Given the description of an element on the screen output the (x, y) to click on. 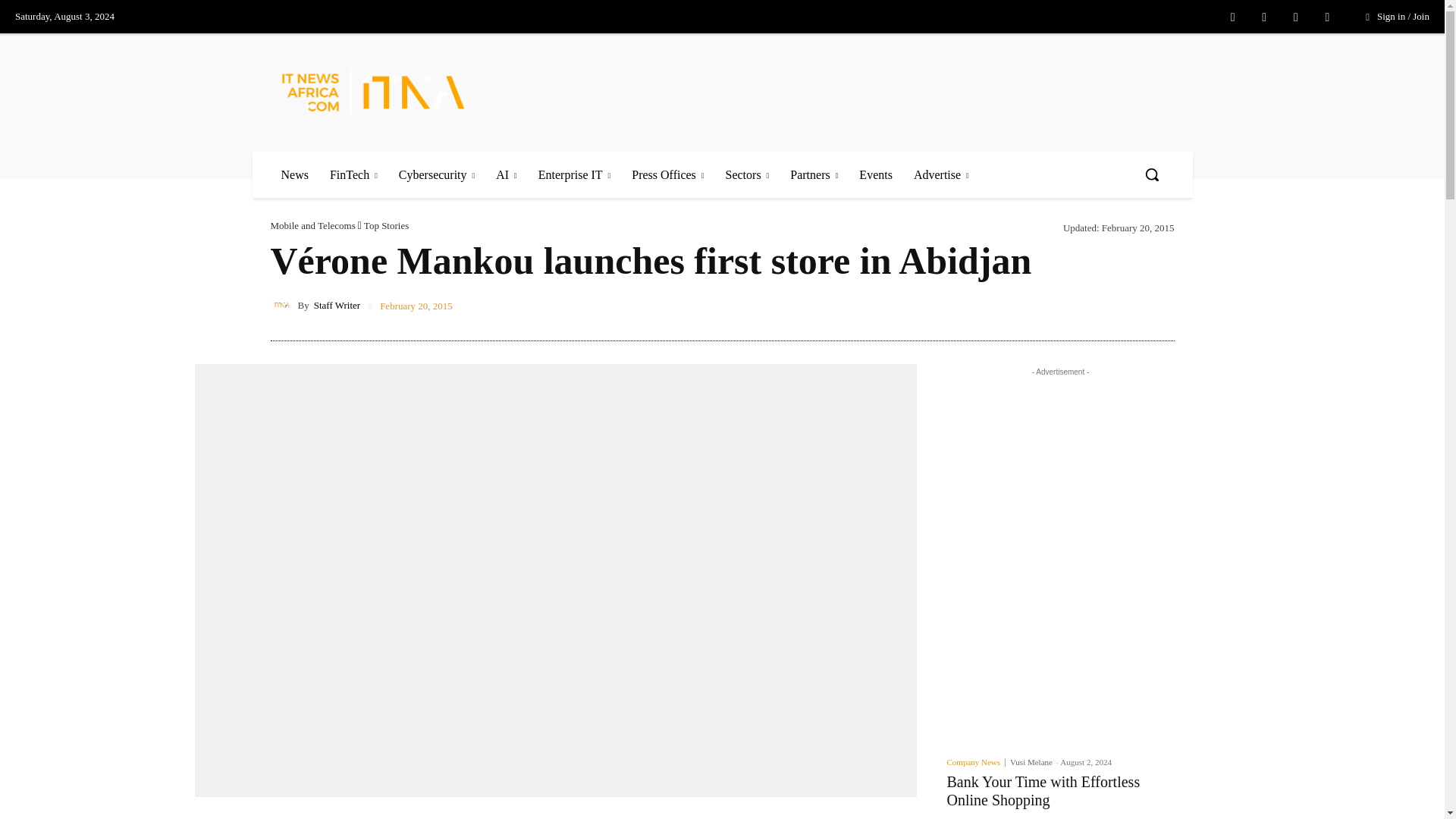
FinTech (353, 174)
IT News Africa (392, 92)
Youtube (1327, 17)
Instagram (1263, 17)
Facebook (1233, 17)
News (293, 174)
IT News Africa (373, 92)
Twitter (1295, 17)
